Given the description of an element on the screen output the (x, y) to click on. 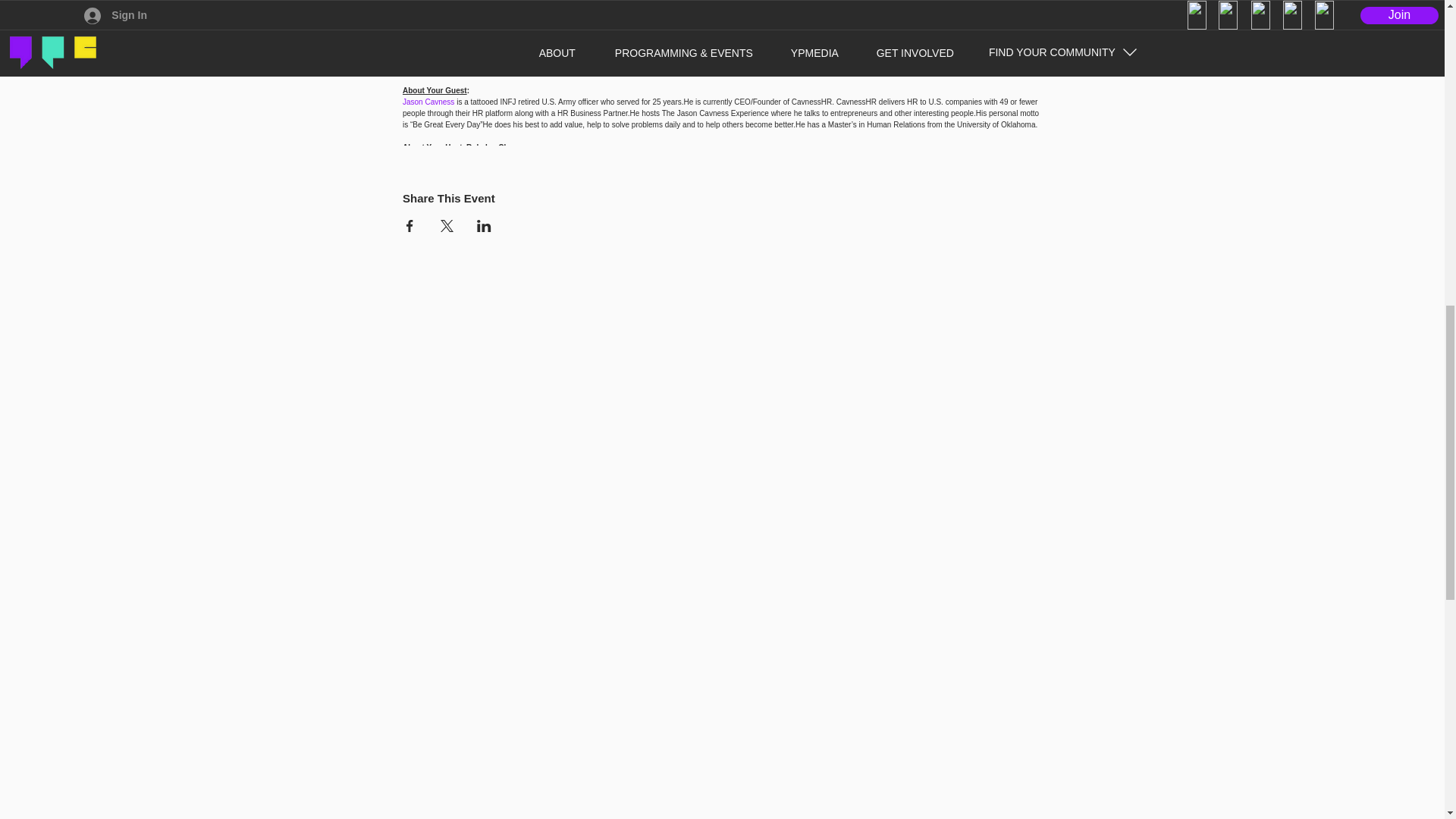
Jason Cavness (428, 101)
